Given the description of an element on the screen output the (x, y) to click on. 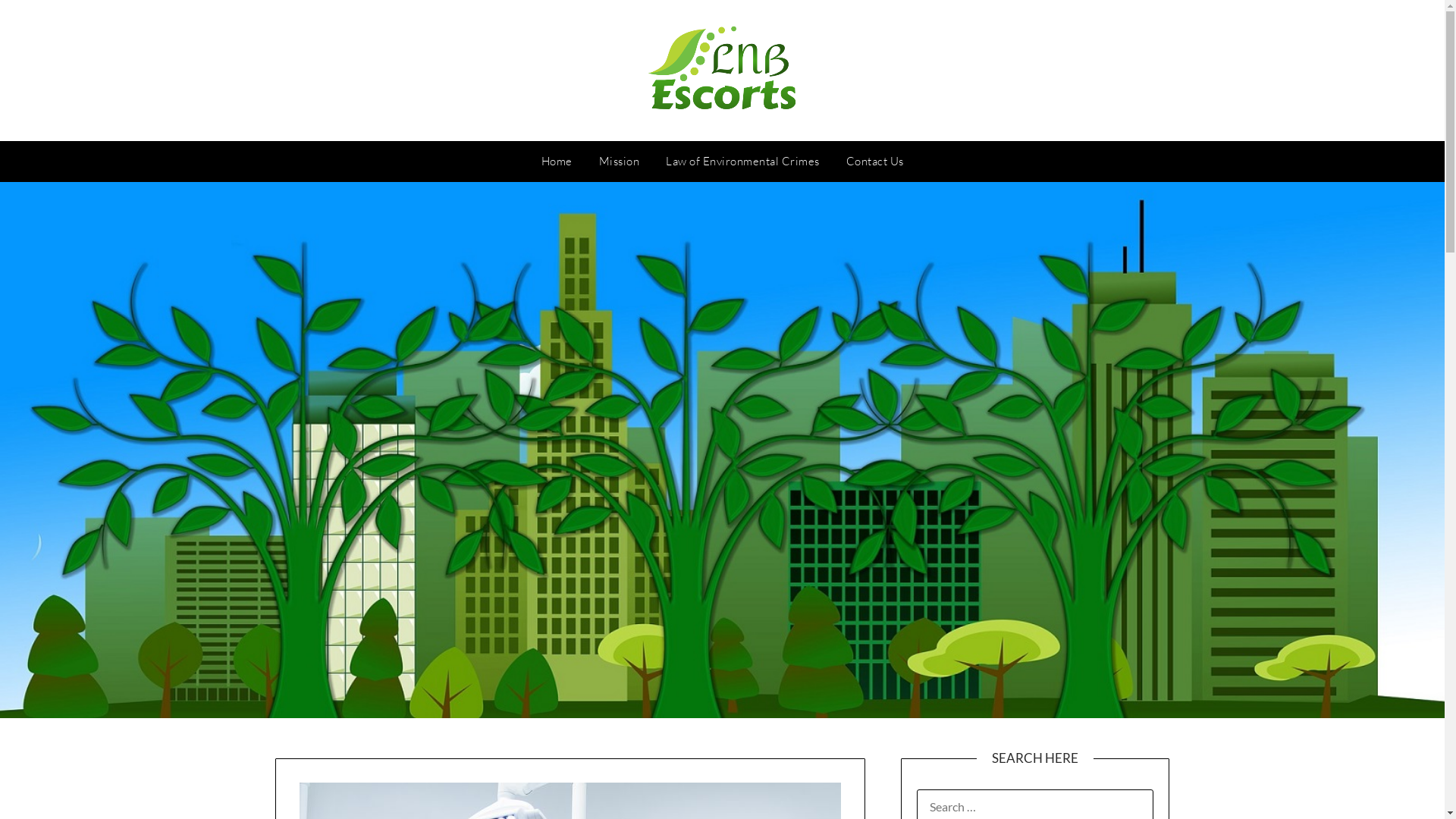
Home Element type: text (556, 161)
Contact Us Element type: text (875, 161)
Search Element type: text (37, 21)
Mission Element type: text (619, 161)
Law of Environmental Crimes Element type: text (742, 161)
